Given the description of an element on the screen output the (x, y) to click on. 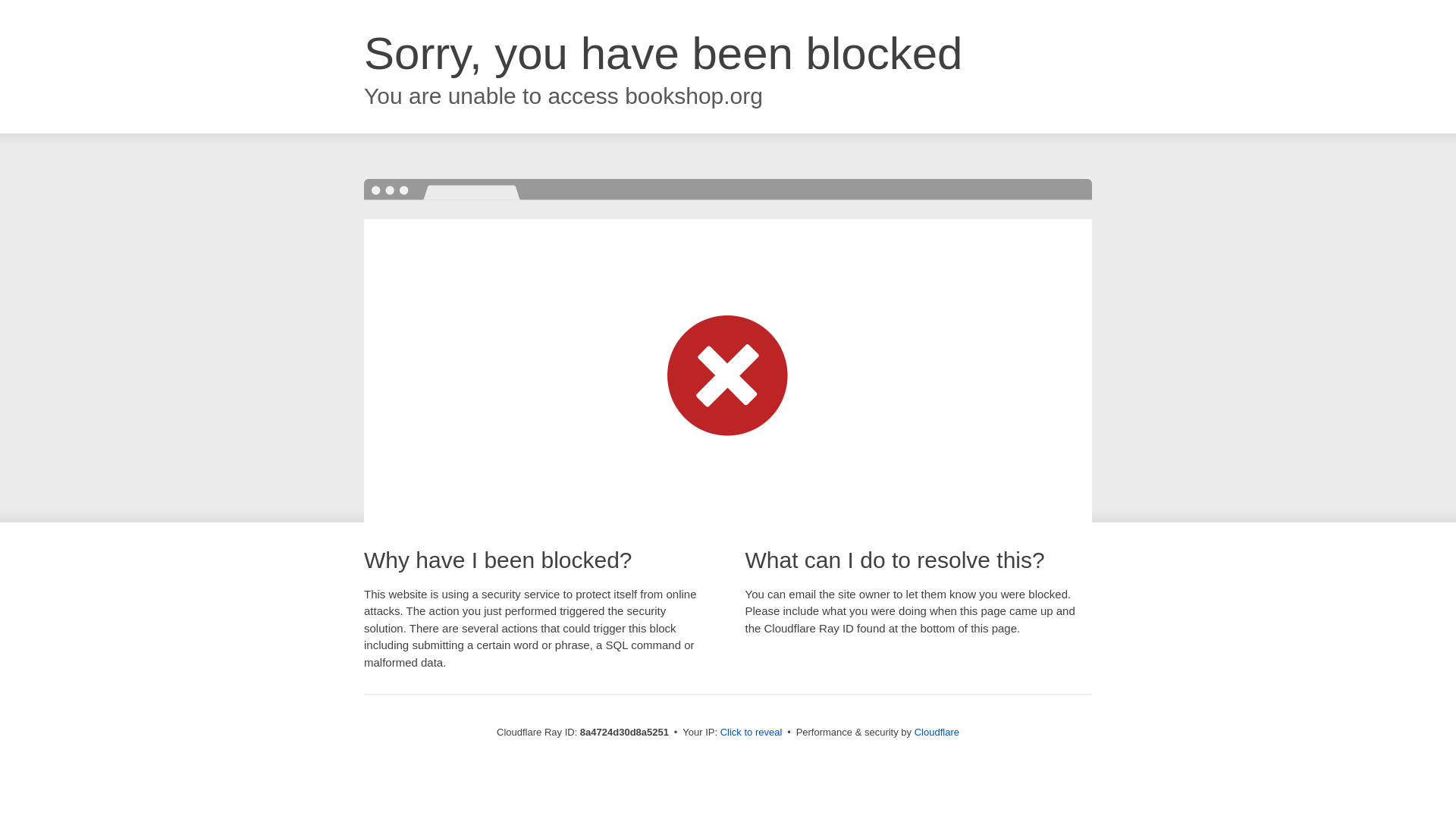
Click to reveal (751, 732)
Cloudflare (936, 731)
